Given the description of an element on the screen output the (x, y) to click on. 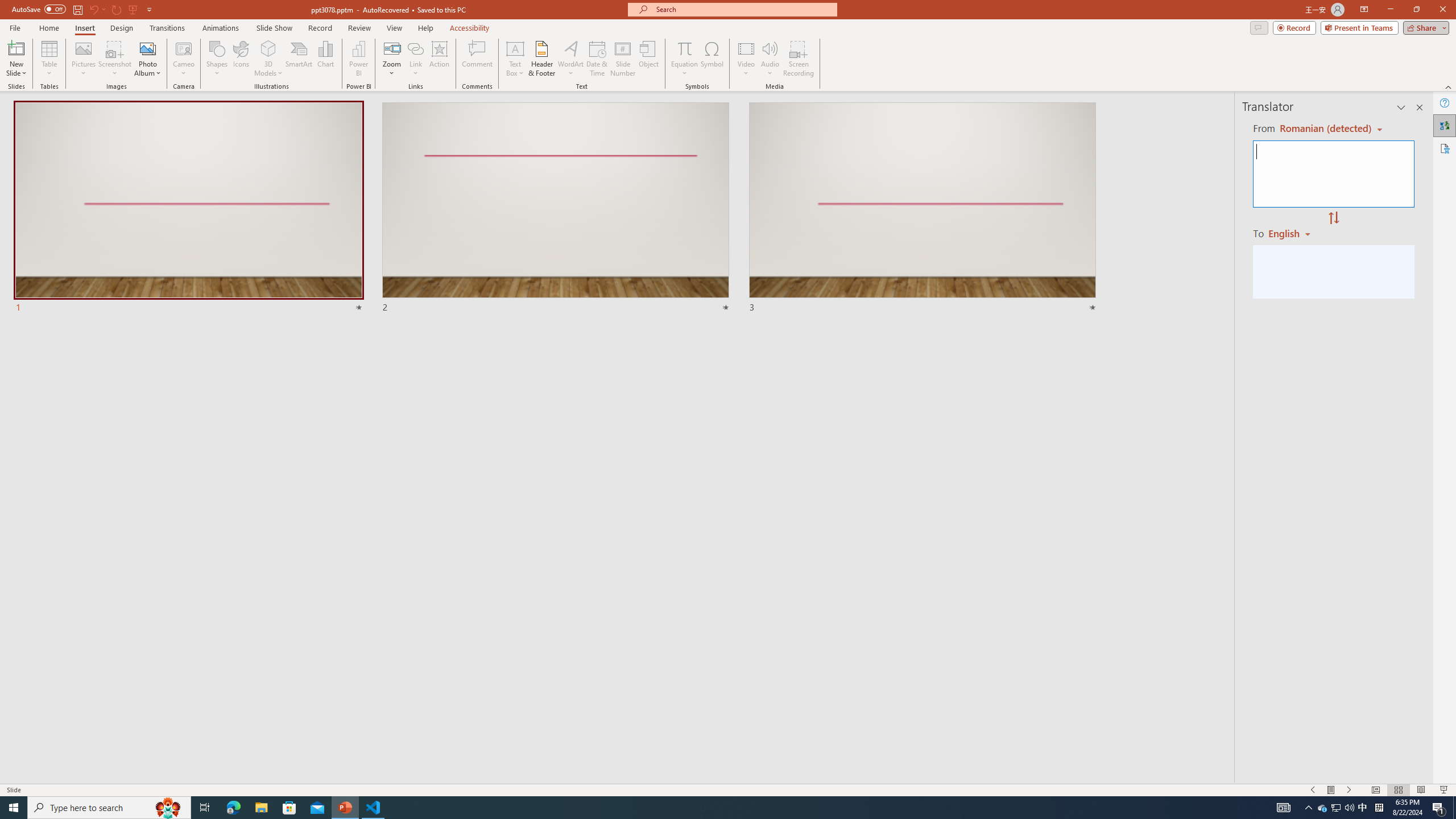
Icons (240, 58)
Romanian (1293, 232)
Pictures (83, 58)
Czech (detected) (1323, 128)
Power BI (358, 58)
Action (439, 58)
